Given the description of an element on the screen output the (x, y) to click on. 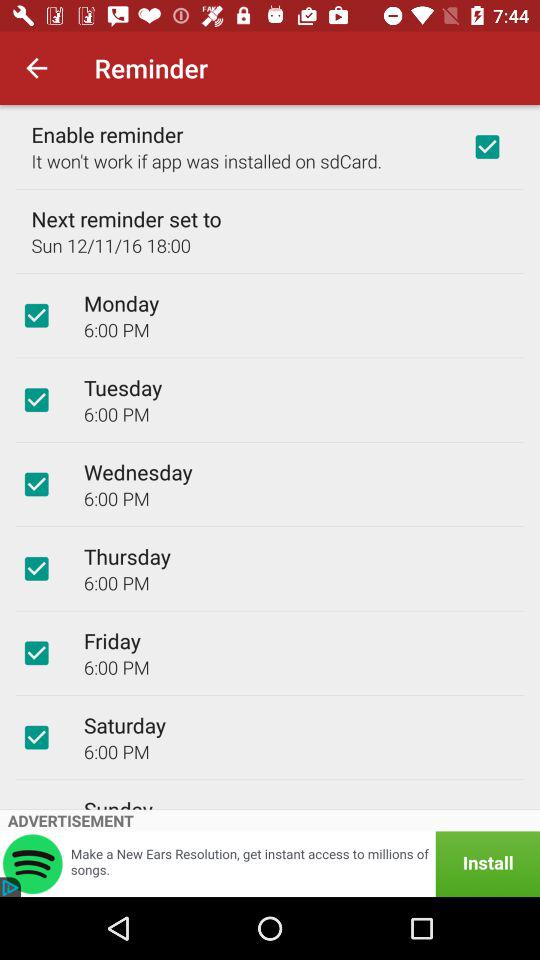
select item (36, 653)
